Given the description of an element on the screen output the (x, y) to click on. 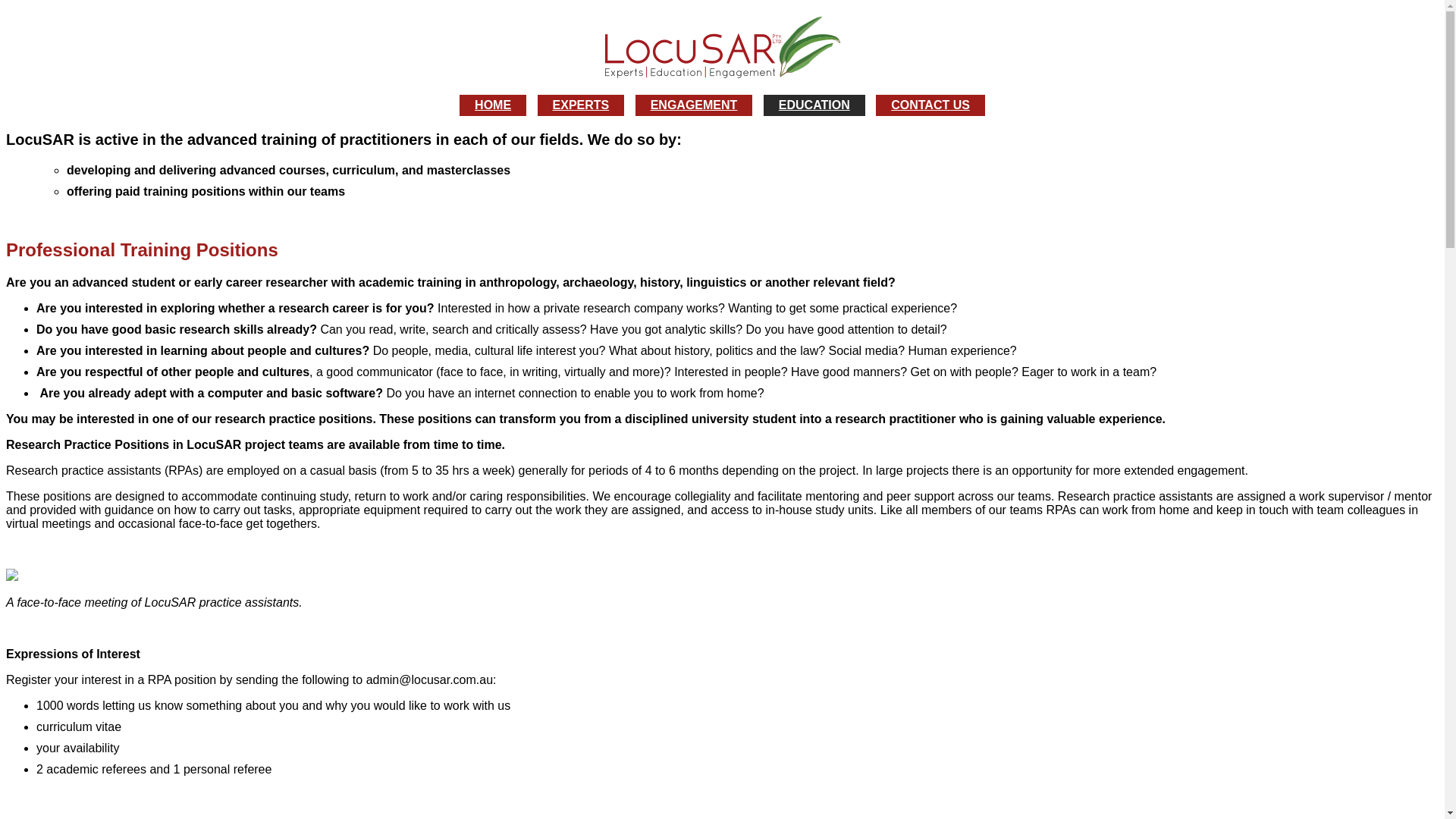
EXPERTS Element type: text (580, 105)
CONTACT US Element type: text (930, 105)
ENGAGEMENT Element type: text (694, 105)
HOME Element type: text (492, 105)
EDUCATION Element type: text (814, 105)
